Given the description of an element on the screen output the (x, y) to click on. 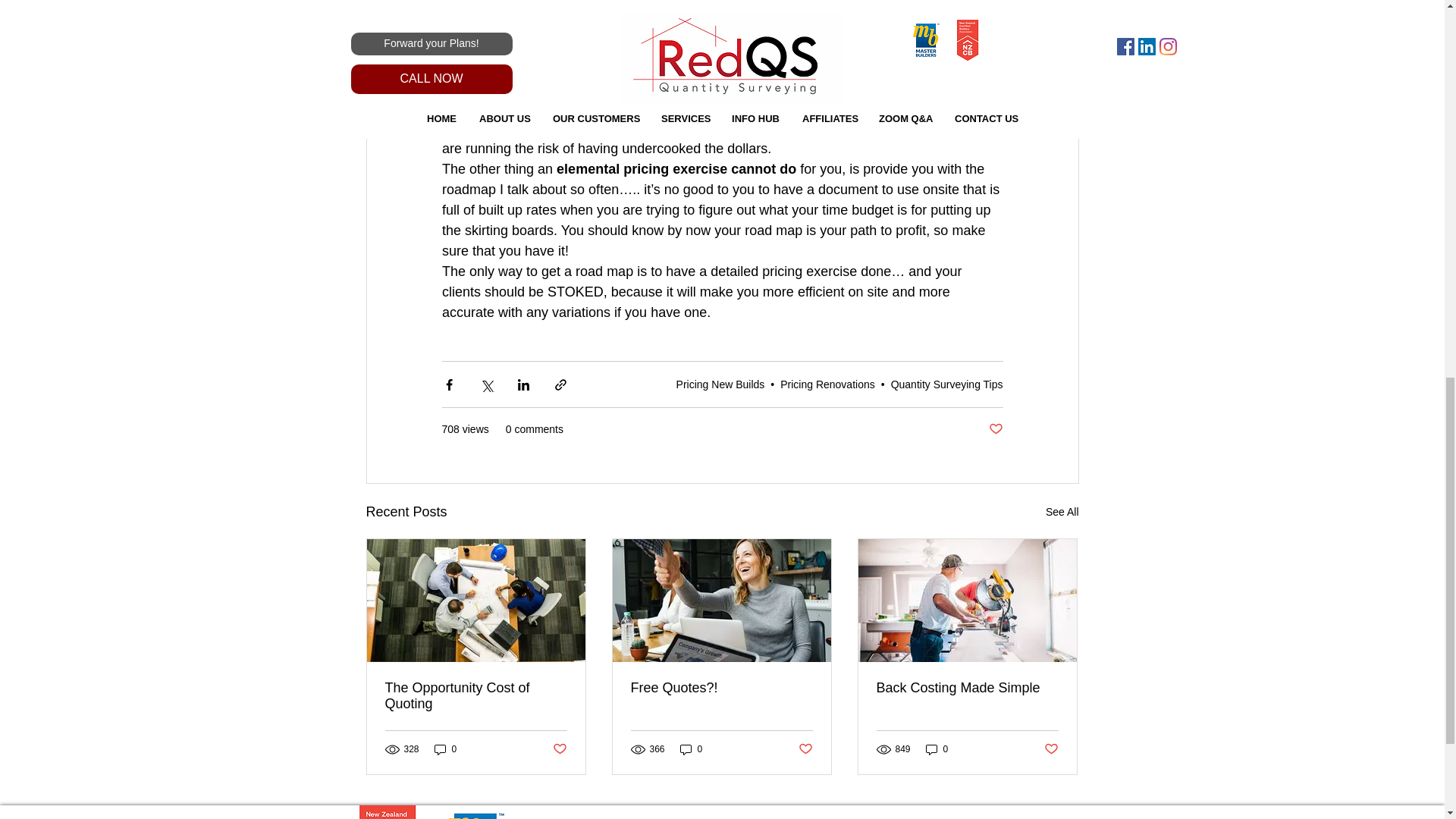
Free Quotes?! (721, 688)
Pricing New Builds (721, 383)
The Opportunity Cost of Quoting (476, 695)
Post not marked as liked (995, 429)
Post not marked as liked (558, 749)
Pricing Renovations (827, 383)
See All (1061, 512)
Quantity Surveying Tips (947, 383)
0 (445, 748)
0 (691, 748)
